Given the description of an element on the screen output the (x, y) to click on. 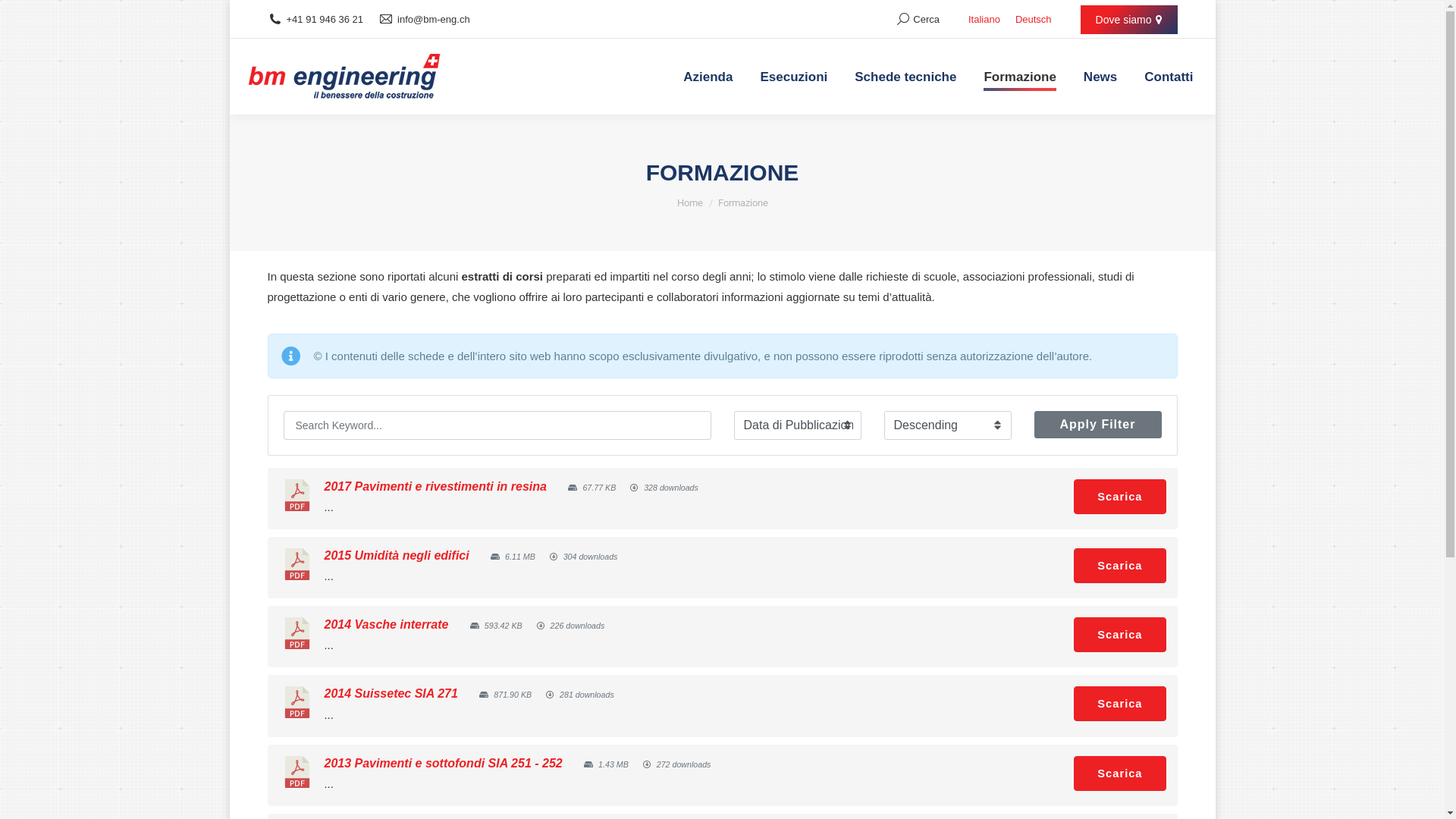
Cerca Element type: text (918, 19)
Go! Element type: text (23, 16)
2017 Pavimenti e rivestimenti in resina Element type: text (435, 486)
Scarica Element type: text (1119, 773)
Formazione Element type: text (1019, 76)
2014 Vasche interrate Element type: text (386, 624)
2014 Suissetec SIA 271 Element type: text (391, 693)
Schede tecniche Element type: text (905, 76)
Scarica Element type: text (1119, 565)
Scarica Element type: text (1119, 634)
Azienda Element type: text (707, 76)
Apply Filter Element type: text (1097, 424)
Esecuzioni Element type: text (793, 76)
Dove siamo Element type: text (1128, 19)
News Element type: text (1100, 76)
Contatti Element type: text (1168, 76)
Scarica Element type: text (1119, 496)
Home Element type: text (689, 202)
Italiano Element type: text (983, 18)
2013 Pavimenti e sottofondi SIA 251 - 252 Element type: text (443, 762)
Deutsch Element type: text (1033, 18)
Scarica Element type: text (1119, 703)
